Given the description of an element on the screen output the (x, y) to click on. 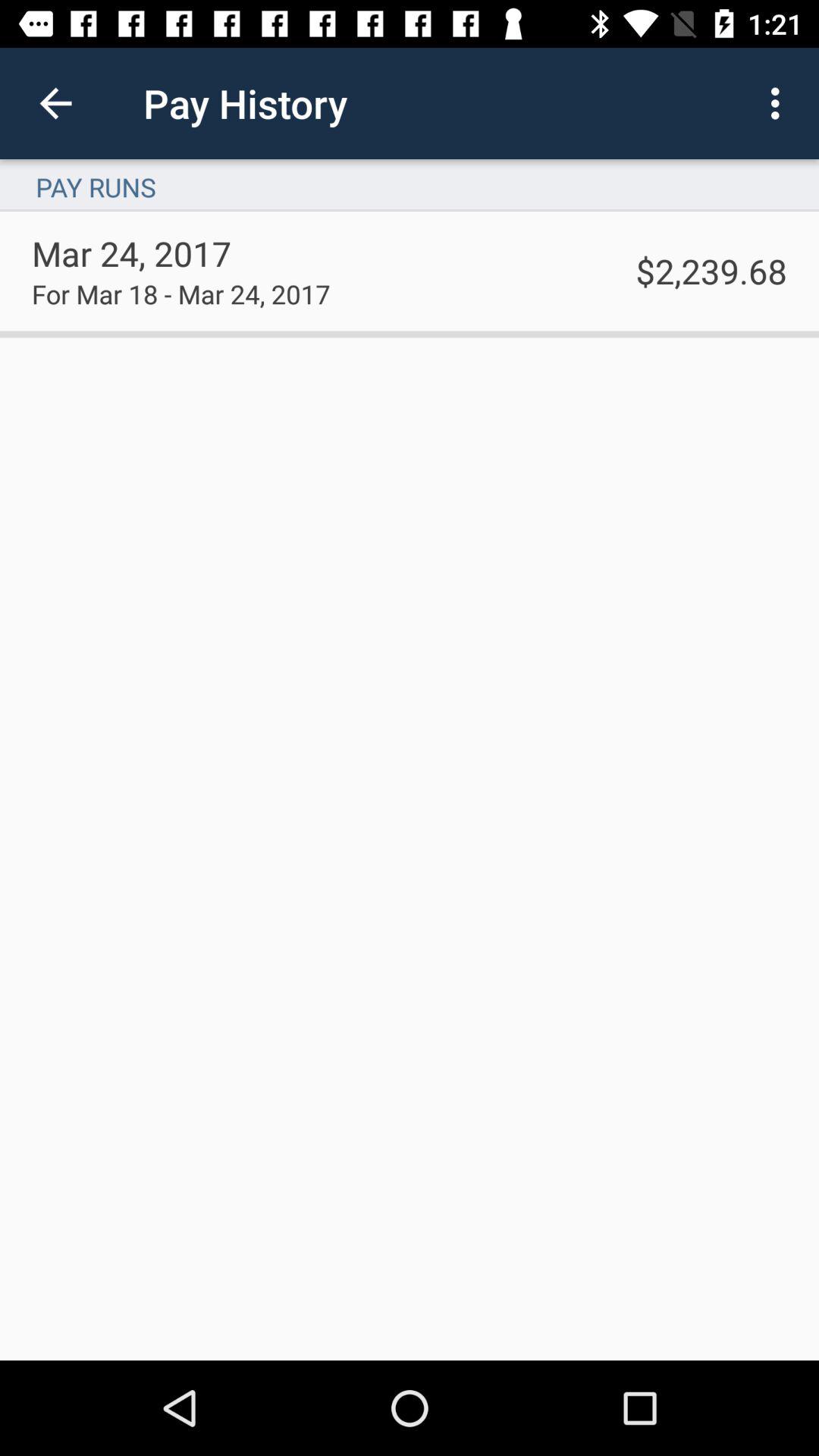
tap the item below pay runs icon (711, 270)
